Given the description of an element on the screen output the (x, y) to click on. 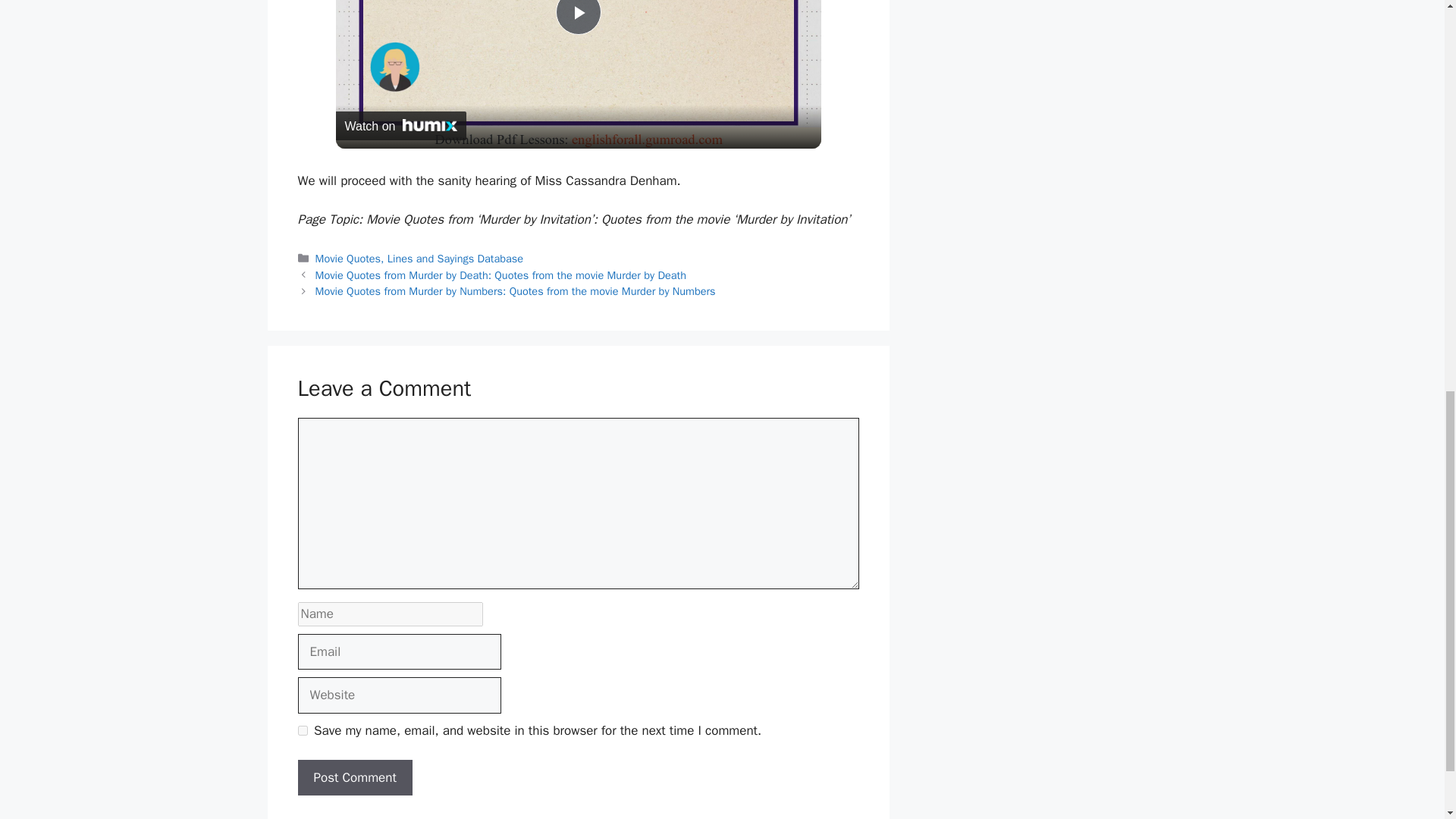
Post Comment (354, 778)
yes (302, 730)
Play Video (576, 17)
Watch on (399, 125)
Post Comment (354, 778)
Movie Quotes, Lines and Sayings Database (419, 258)
Play Video (576, 17)
